Given the description of an element on the screen output the (x, y) to click on. 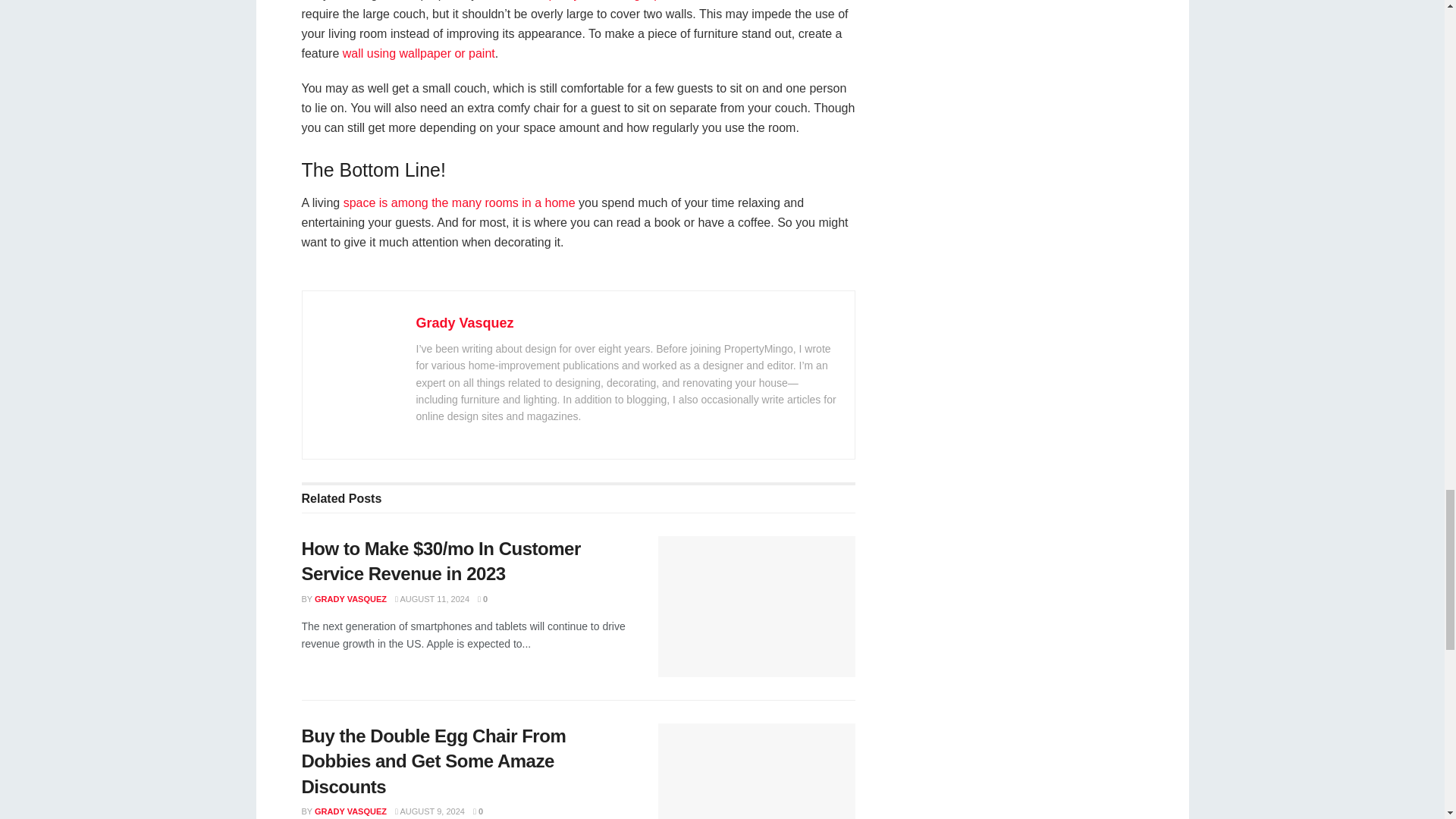
Top Tools for Painting Walls, Easy Tips and Tricks (418, 52)
Amazon Business sees growth in PCs, kitchen, home space (459, 202)
